Given the description of an element on the screen output the (x, y) to click on. 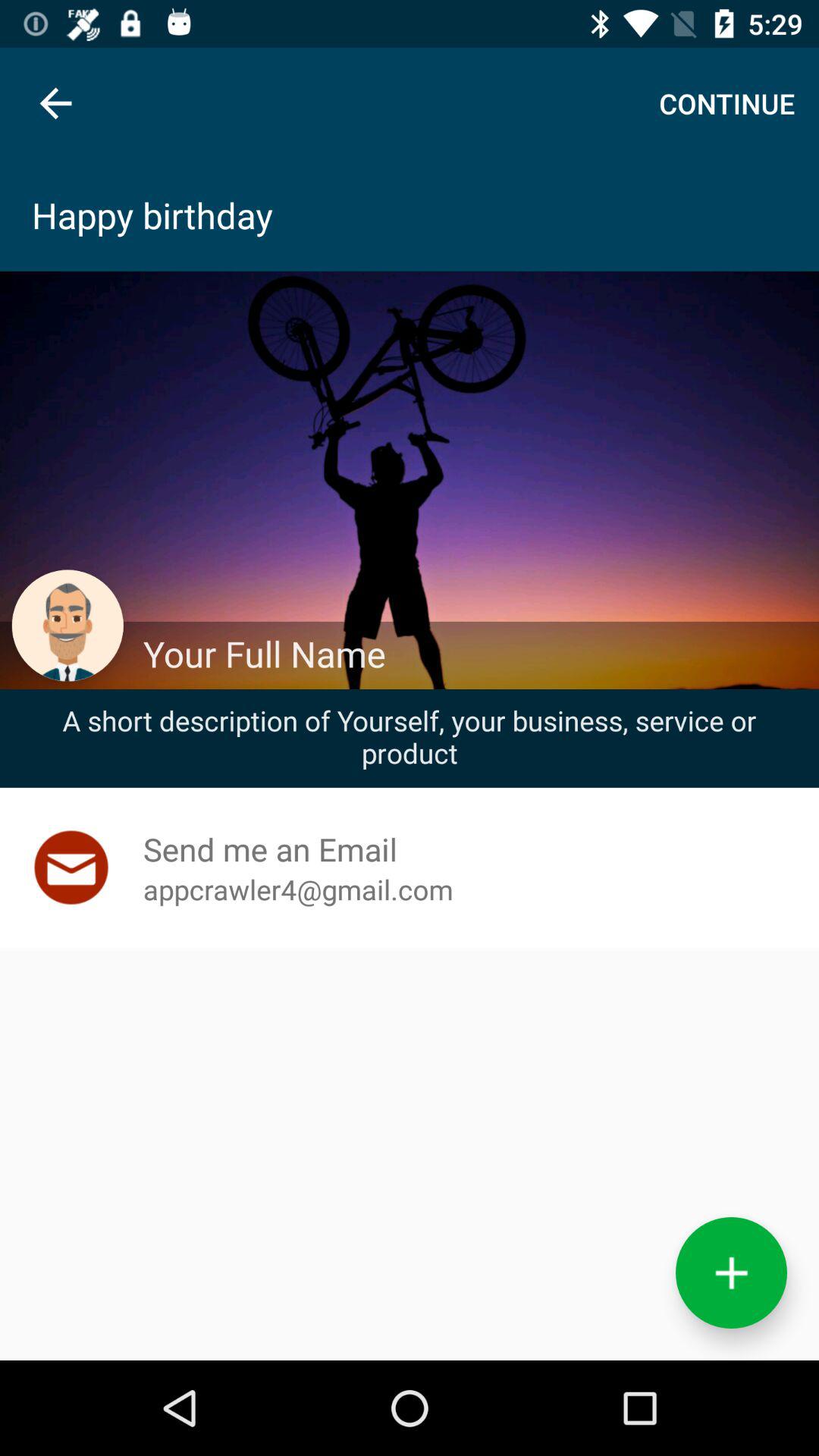
select the item above the send me an icon (409, 736)
